Given the description of an element on the screen output the (x, y) to click on. 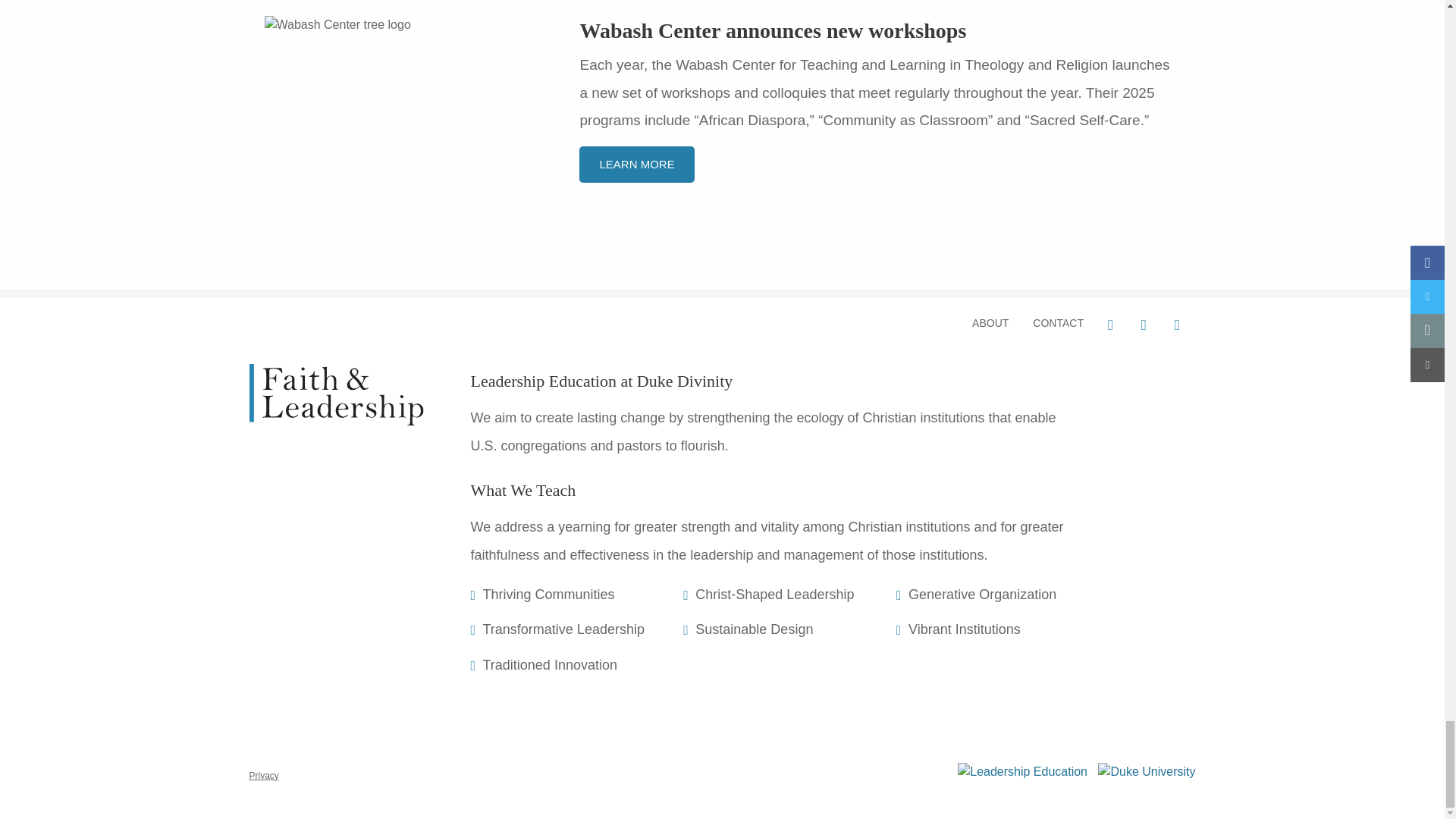
Wabash Center announces new workshops (772, 30)
What We Teach (522, 489)
 RSS FEED (1178, 325)
Leadership Education at Duke Divinity (601, 380)
ABOUT (989, 322)
LEARN MORE (636, 164)
 FACEBOOK (1112, 325)
 TWITTER (1145, 325)
CONTACT (1058, 322)
